Given the description of an element on the screen output the (x, y) to click on. 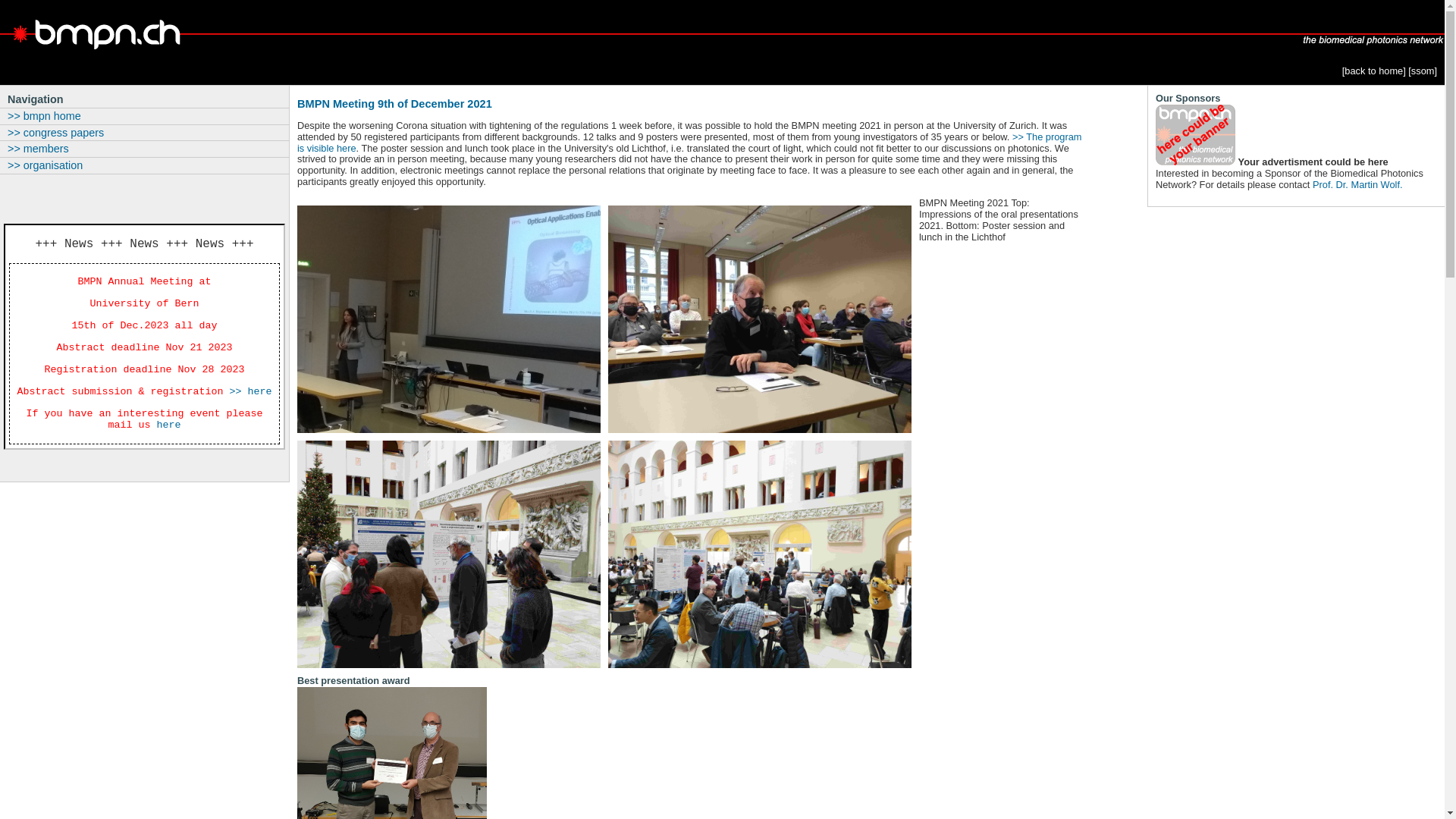
>> members Element type: text (144, 148)
>> bmpn home Element type: text (144, 115)
>> here Element type: text (250, 391)
[ssom] Element type: text (1422, 70)
BMPN Meeting 9th of December 2021 Element type: text (690, 103)
>> The program is visible here Element type: text (689, 142)
[back to home] Element type: text (1373, 70)
>> organisation Element type: text (144, 164)
Prof. Dr. Martin Wolf. Element type: text (1357, 184)
>> congress papers Element type: text (144, 132)
here Element type: text (168, 424)
